Given the description of an element on the screen output the (x, y) to click on. 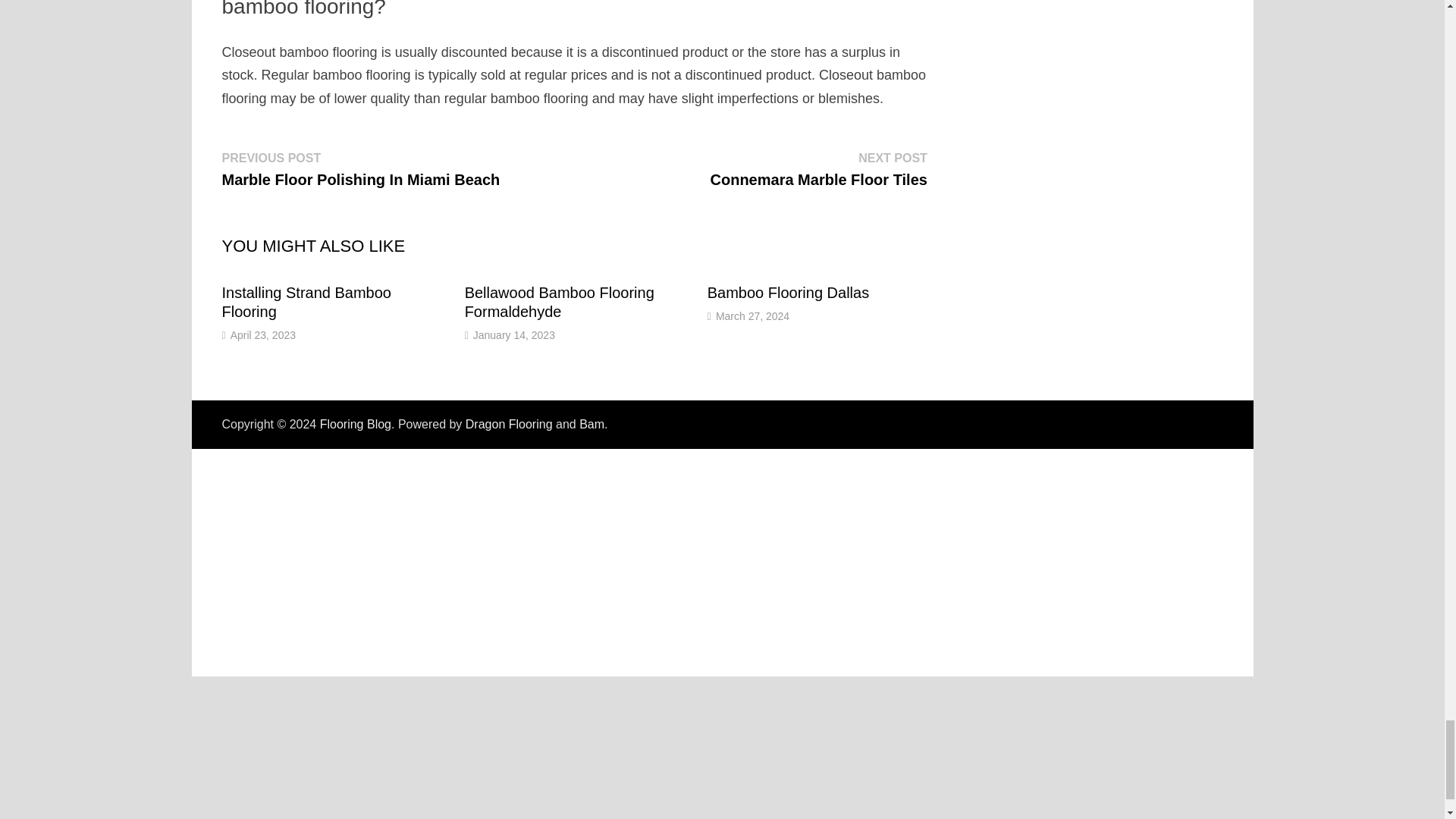
January 14, 2023 (513, 335)
March 27, 2024 (752, 316)
Bellawood Bamboo Flooring Formaldehyde (558, 302)
April 23, 2023 (262, 335)
Bamboo Flooring Dallas (788, 292)
Flooring Blog (355, 423)
Bamboo Flooring Dallas (788, 292)
Bellawood Bamboo Flooring Formaldehyde (558, 302)
Installing Strand Bamboo Flooring (818, 168)
Installing Strand Bamboo Flooring (305, 302)
